Given the description of an element on the screen output the (x, y) to click on. 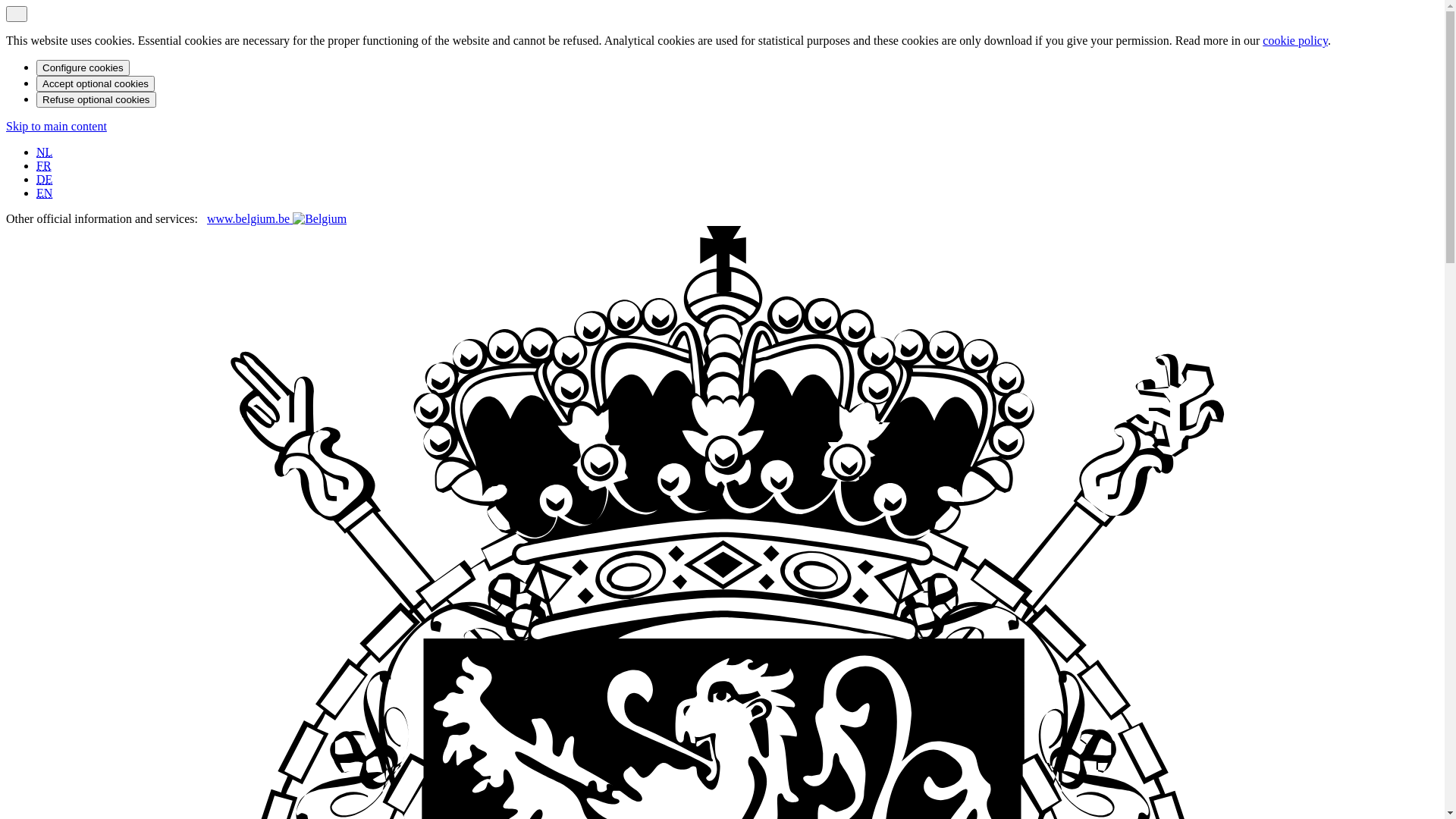
DE Element type: text (44, 178)
www.belgium.be Element type: text (276, 218)
NL Element type: text (44, 151)
cookie policy Element type: text (1294, 40)
Accept optional cookies Element type: text (95, 83)
Close Element type: text (16, 13)
Skip to main content Element type: text (56, 125)
EN Element type: text (44, 192)
FR Element type: text (43, 165)
Refuse optional cookies Element type: text (96, 99)
Configure cookies Element type: text (82, 67)
